Given the description of an element on the screen output the (x, y) to click on. 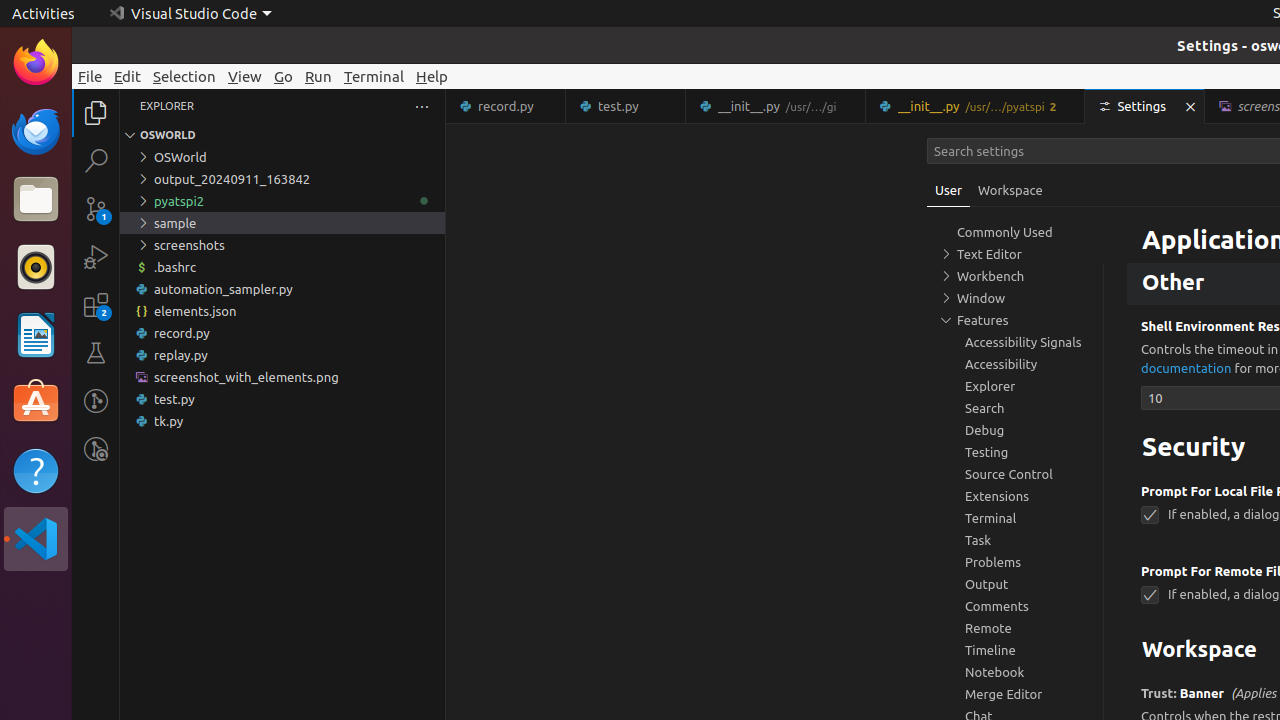
Remote, group Element type: tree-item (1015, 628)
GitLens Inspect Element type: page-tab (96, 449)
tk.py Element type: tree-item (282, 421)
output_20240911_163842 Element type: tree-item (282, 179)
